Given the description of an element on the screen output the (x, y) to click on. 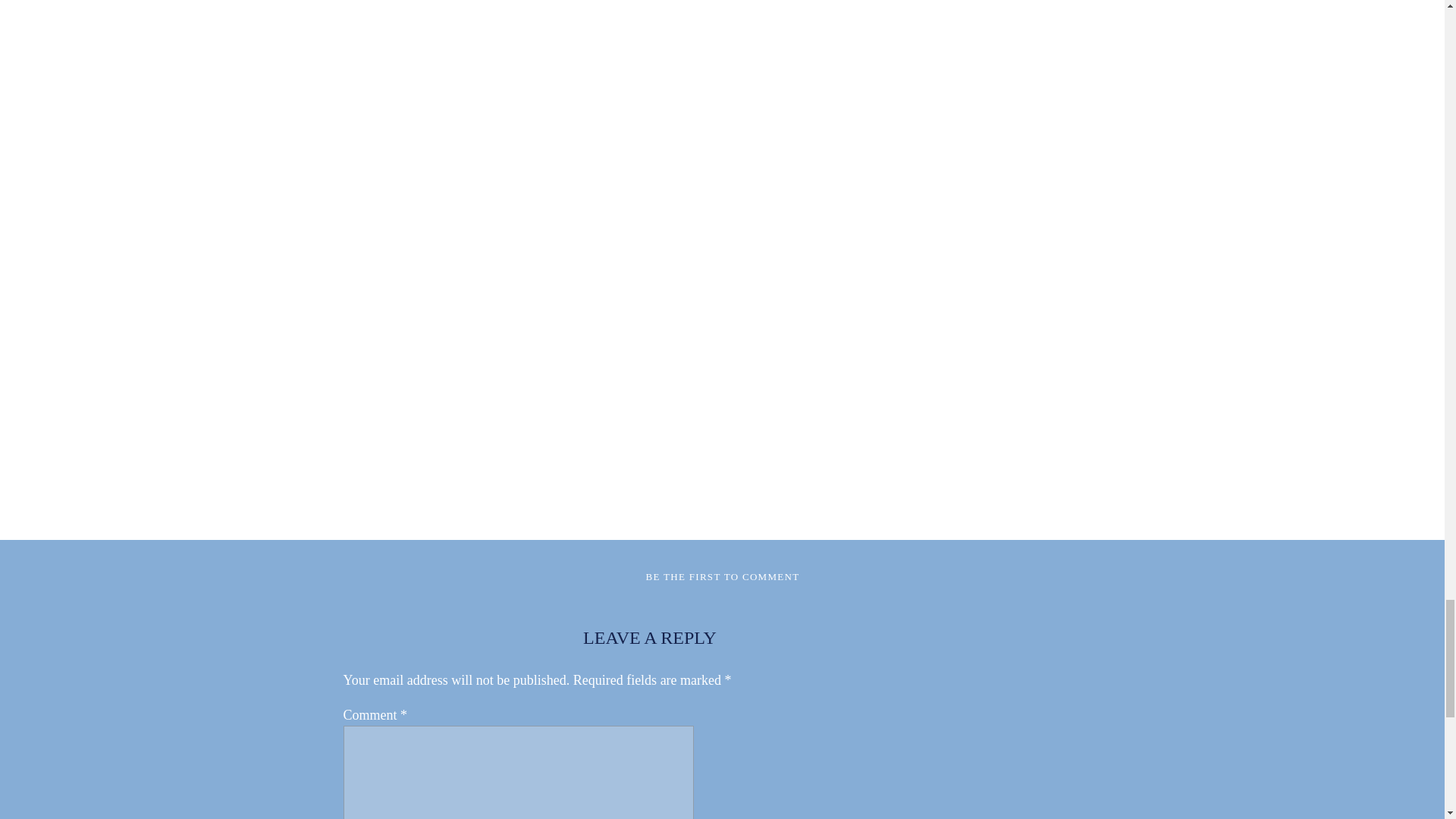
BE THE FIRST TO COMMENT (722, 576)
